Given the description of an element on the screen output the (x, y) to click on. 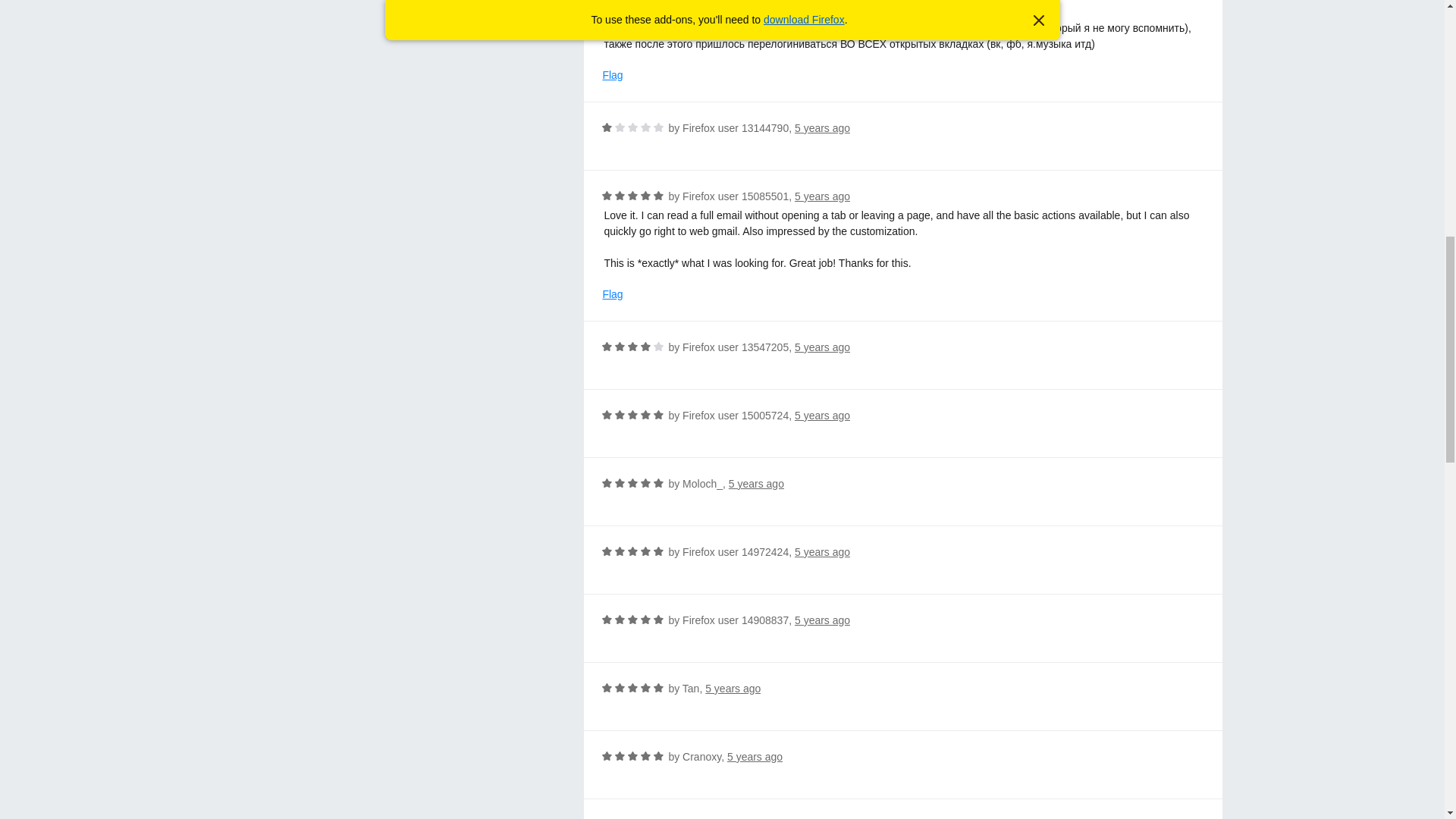
5 years ago (732, 688)
5 years ago (822, 128)
5 years ago (822, 415)
5 years ago (756, 483)
5 years ago (822, 551)
Flag (612, 75)
5 years ago (822, 620)
5 years ago (754, 756)
5 years ago (822, 196)
5 years ago (822, 346)
